Given the description of an element on the screen output the (x, y) to click on. 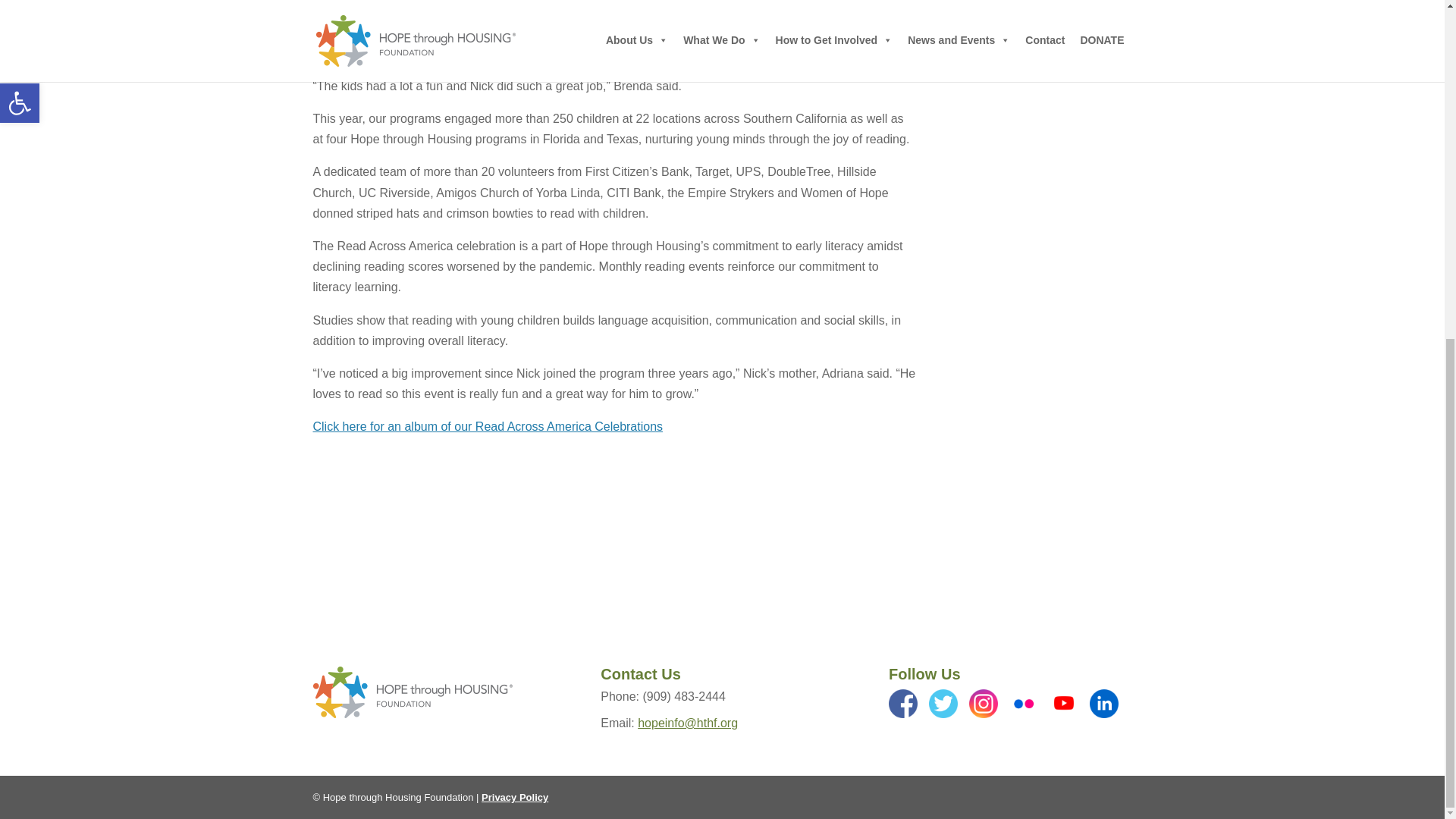
Flickr (1023, 703)
LinkedIn (1103, 703)
YouTube (1063, 703)
